Given the description of an element on the screen output the (x, y) to click on. 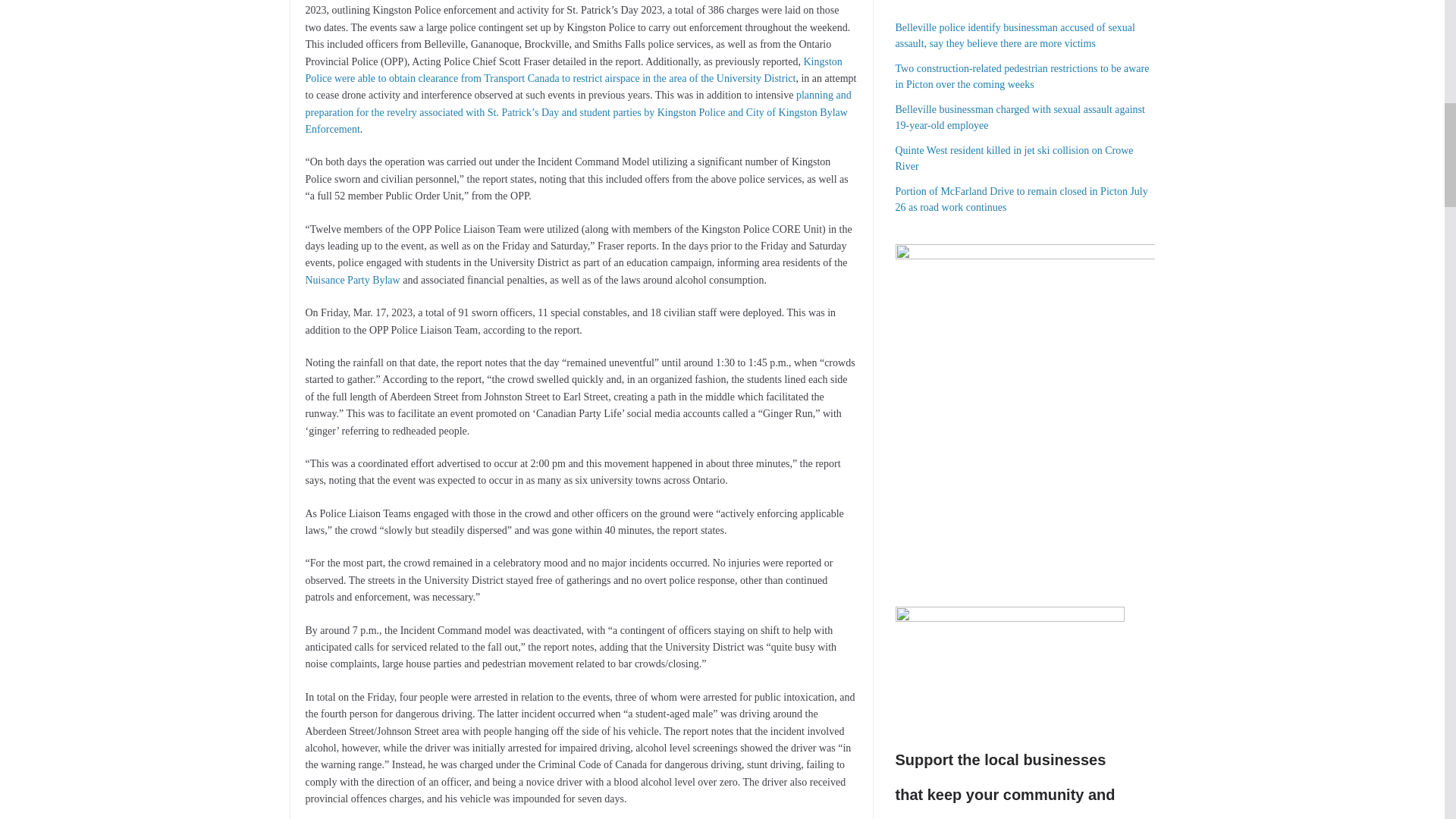
Nuisance Party Bylaw (351, 279)
